Given the description of an element on the screen output the (x, y) to click on. 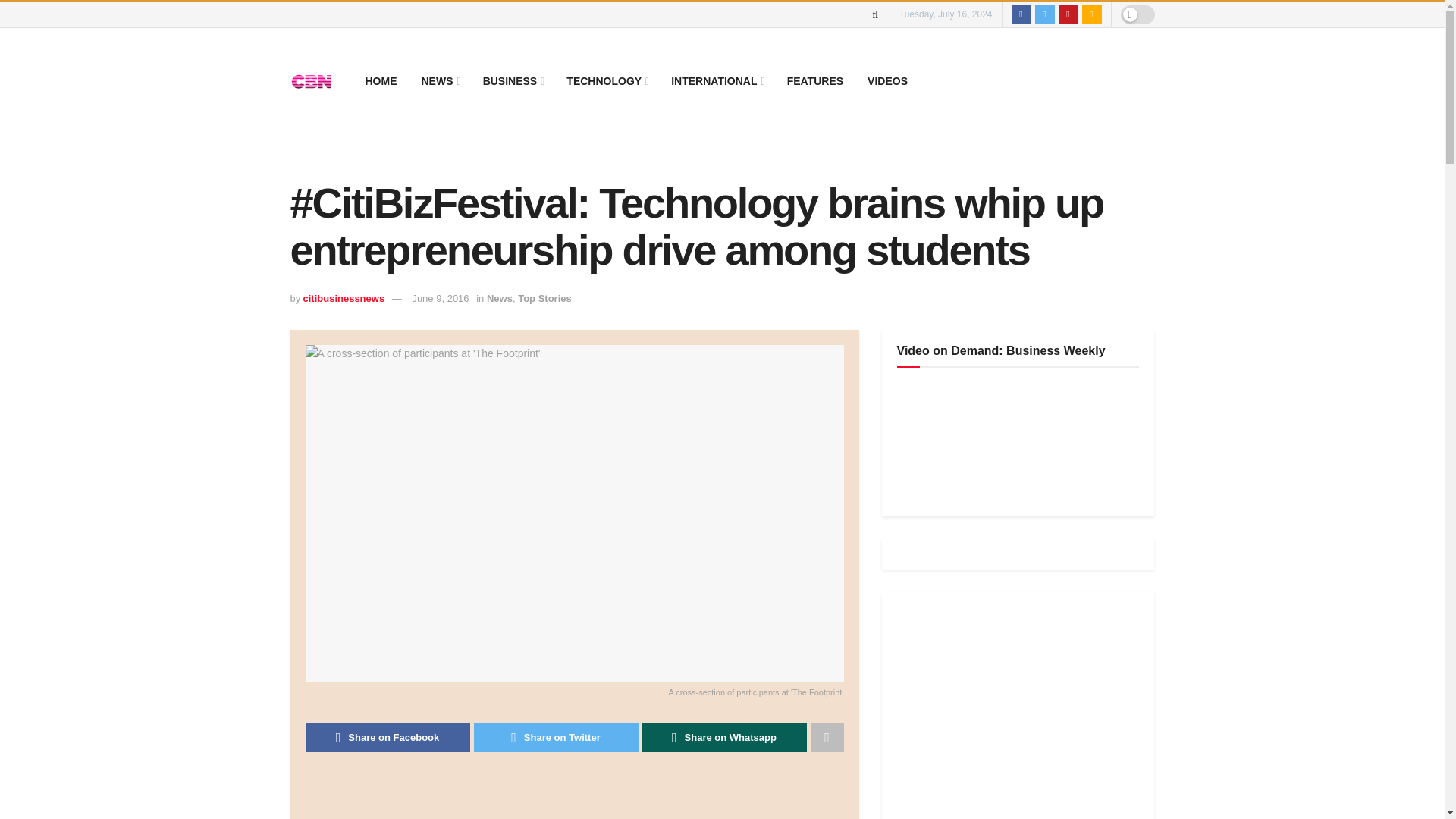
NEWS (439, 80)
Business Weekly (1010, 439)
Advertisement (1010, 713)
Advertisement (580, 798)
HOME (381, 80)
